Given the description of an element on the screen output the (x, y) to click on. 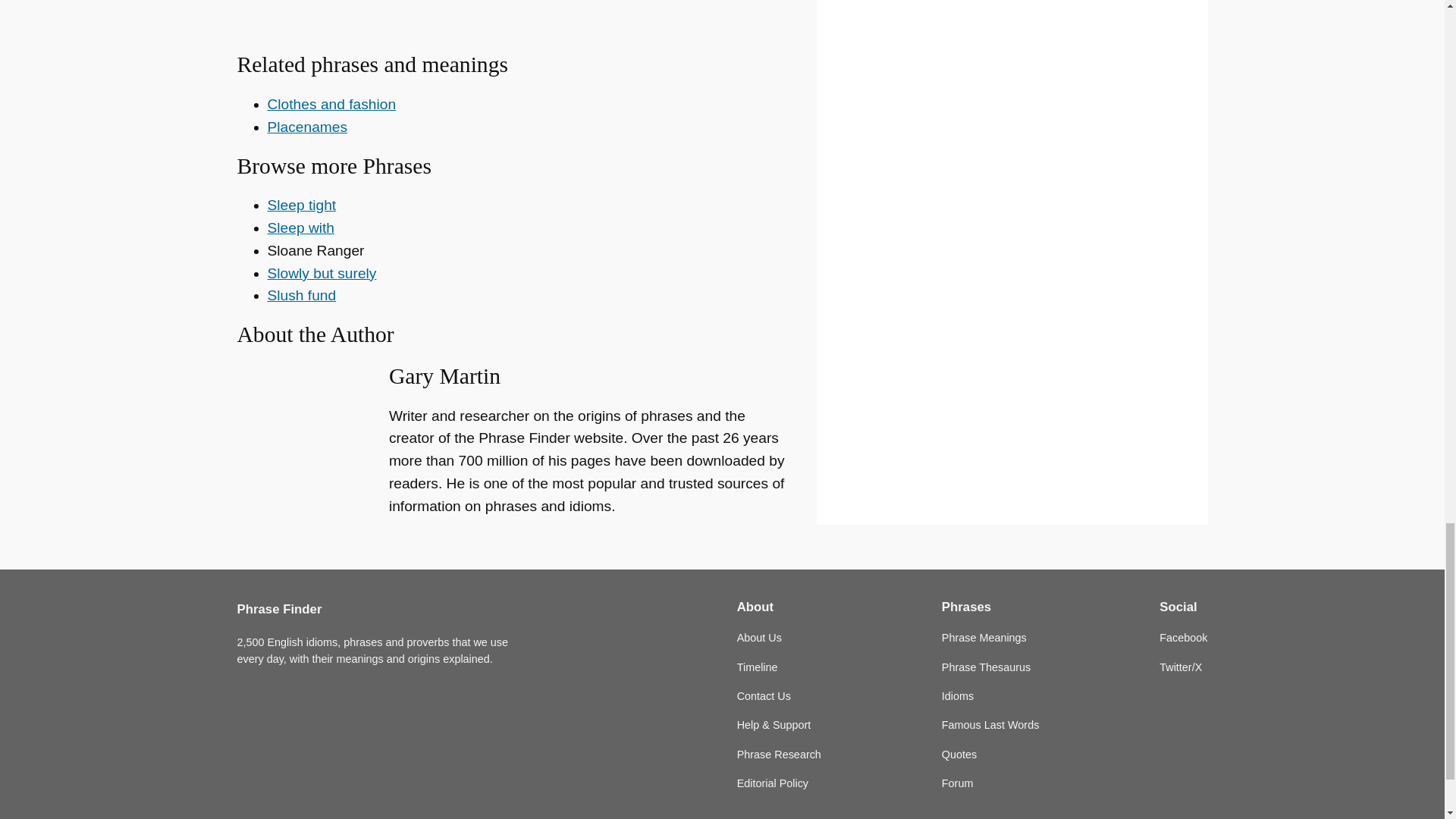
Sleep with (300, 227)
Sleep with (300, 227)
Sleep tight (301, 204)
Placenames (306, 126)
Slush fund (301, 295)
Sleep tight (301, 204)
Clothes and fashion (331, 104)
Clothes and fashion (331, 104)
Slowly but surely (320, 273)
Placenames (306, 126)
